Given the description of an element on the screen output the (x, y) to click on. 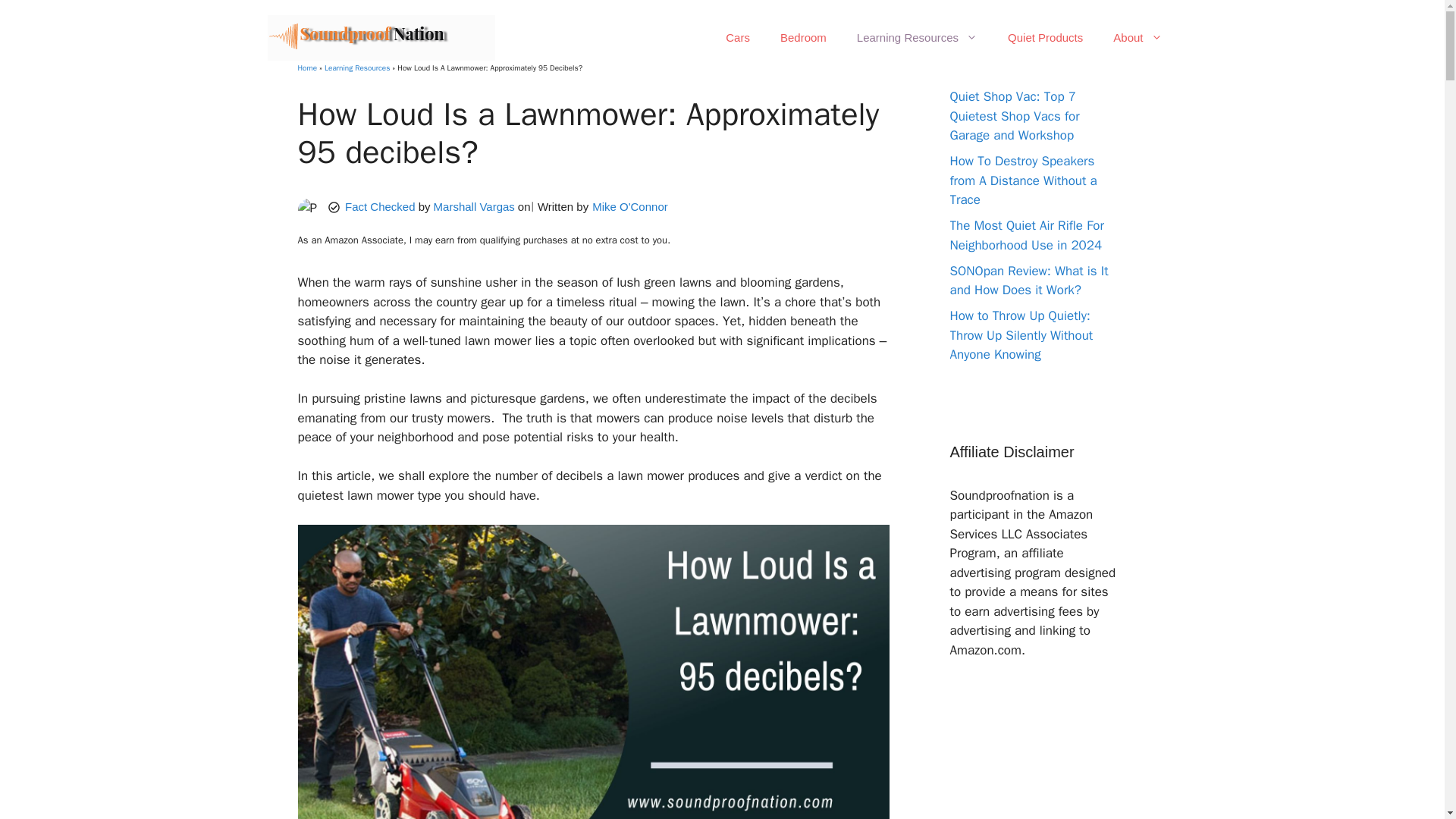
About (1136, 37)
Mike O'Connor (630, 205)
Quiet Products (1044, 37)
Learning Resources (357, 67)
Bedroom (803, 37)
Learning Resources (916, 37)
Fact Checked (382, 205)
Cars (737, 37)
Marshall Vargas (474, 205)
Home (307, 67)
